Given the description of an element on the screen output the (x, y) to click on. 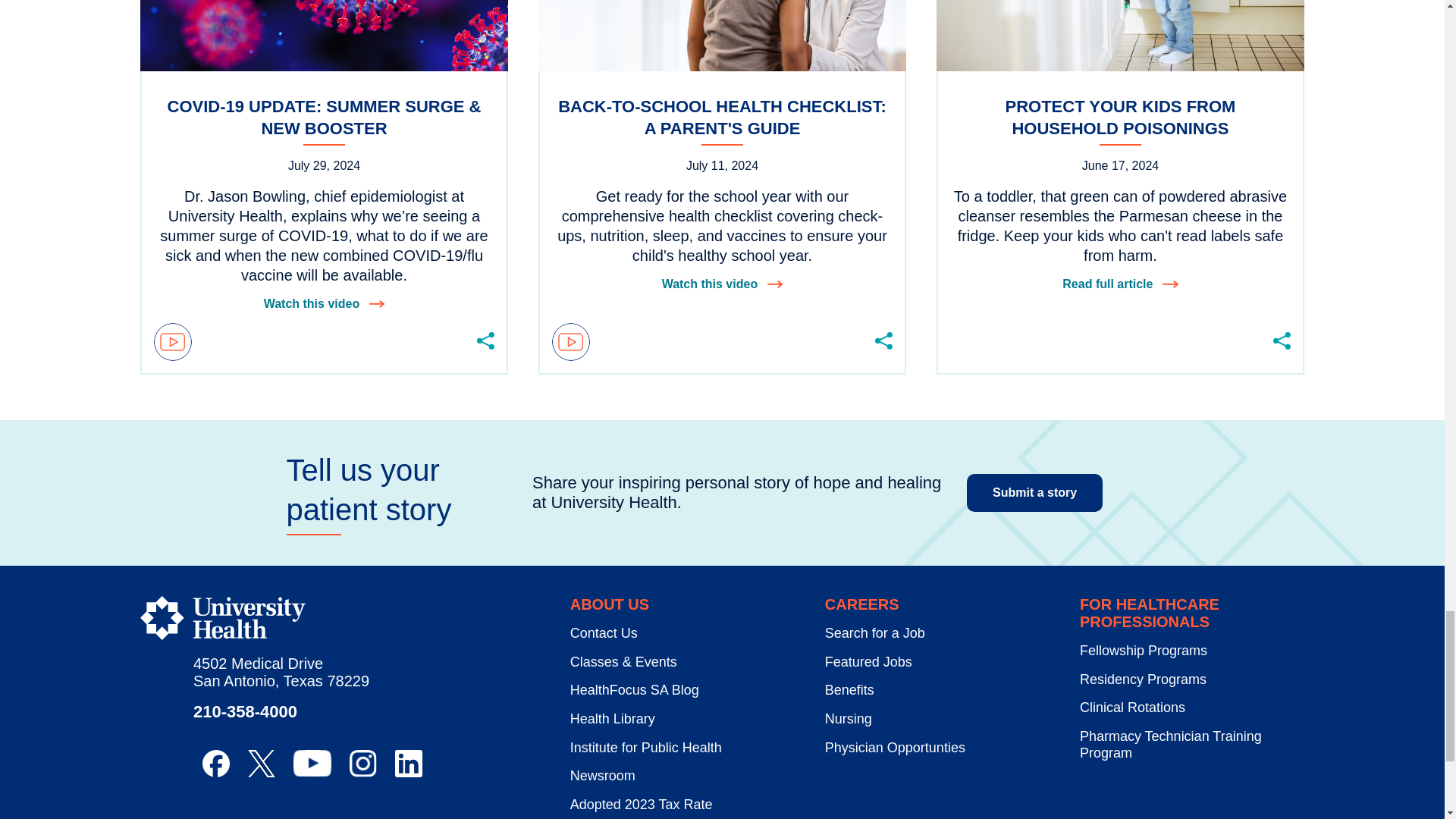
PROTECT YOUR KIDS FROM HOUSEHOLD POISONINGS (1120, 120)
Find us on Facebook (215, 763)
Watch this video (722, 283)
BACK-TO-SCHOOL HEALTH CHECKLIST: A PARENT'S GUIDE (721, 120)
Find us on Instagram (362, 763)
Watch this video (324, 303)
210-358-4000 (245, 711)
Read full article (1119, 283)
Submit a story (1034, 492)
Find us on YouTube (311, 763)
